Given the description of an element on the screen output the (x, y) to click on. 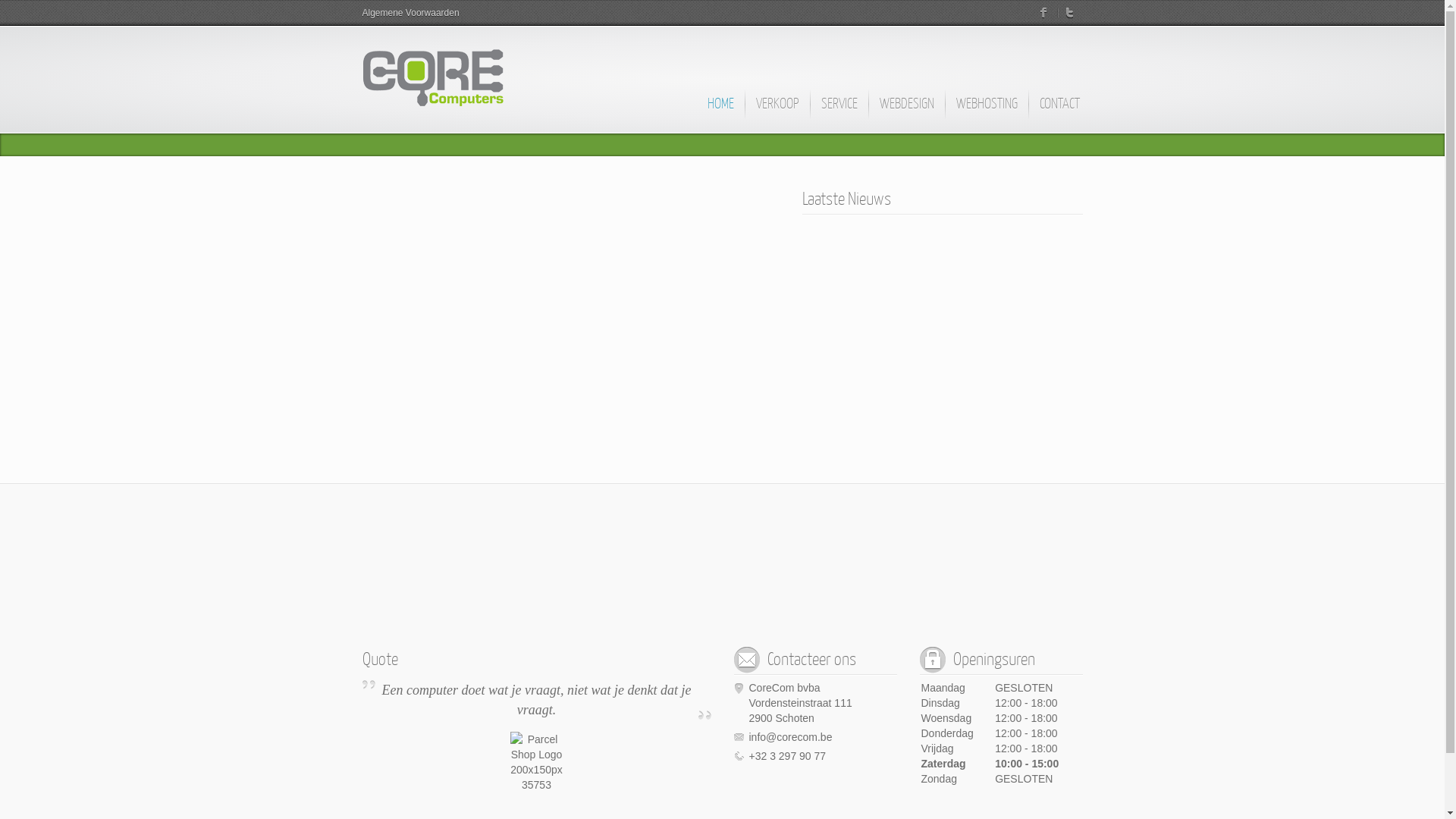
CONTACT Element type: text (1059, 110)
WEBHOSTING Element type: text (986, 110)
VERKOOP Element type: text (776, 110)
WEBDESIGN Element type: text (905, 110)
Algemene Voorwaarden Element type: text (410, 12)
HOME Element type: text (720, 110)
